Given the description of an element on the screen output the (x, y) to click on. 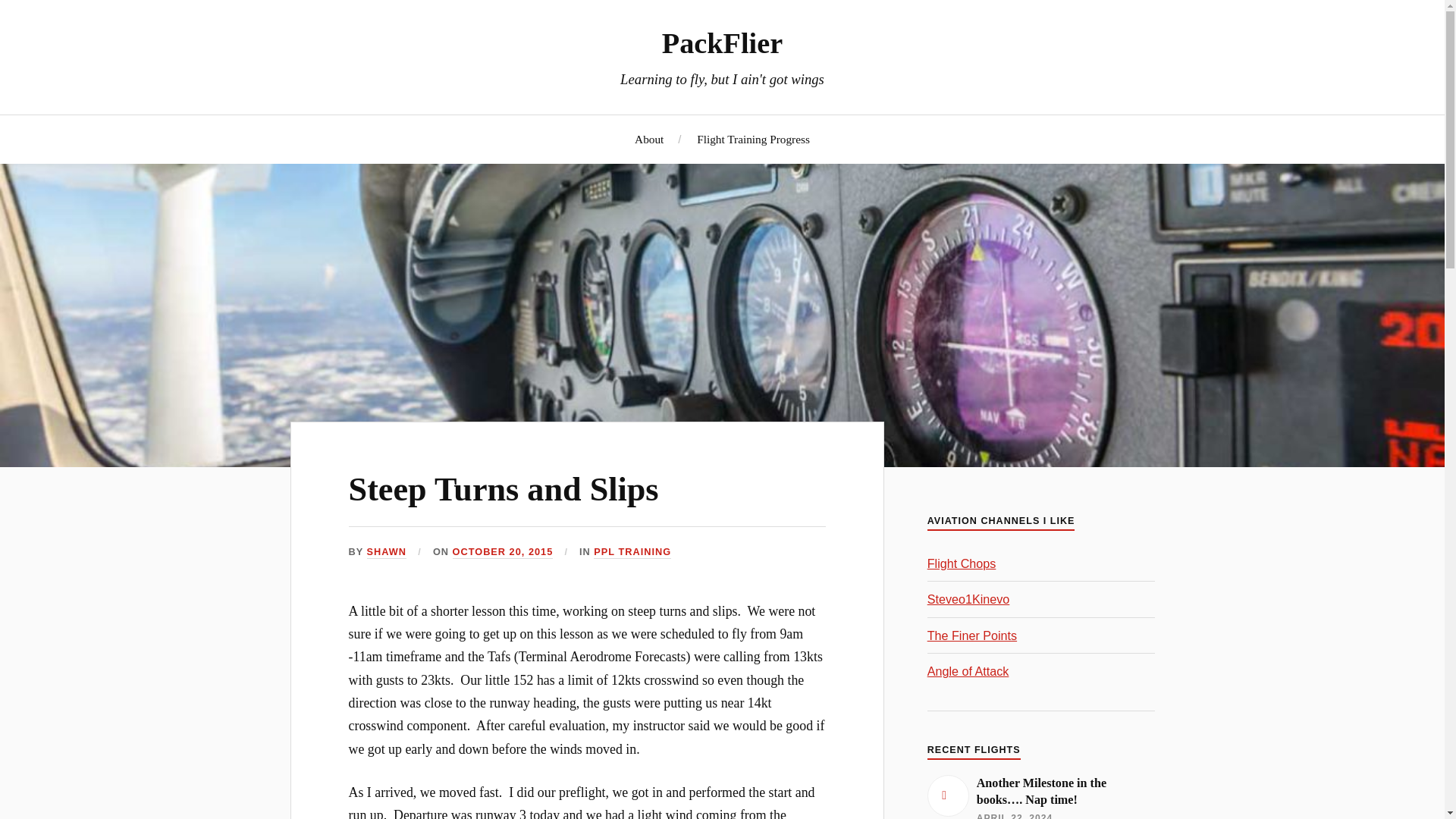
PPL TRAINING (632, 552)
PackFlier (722, 42)
Flight Chops (961, 563)
Steep Turns and Slips (504, 488)
Steveo1Kinevo (968, 599)
About (648, 138)
OCTOBER 20, 2015 (502, 552)
SHAWN (386, 552)
Angle of Attack (968, 671)
The Finer Points (971, 635)
Flight Training Progress (753, 138)
Posts by Shawn (386, 552)
